Given the description of an element on the screen output the (x, y) to click on. 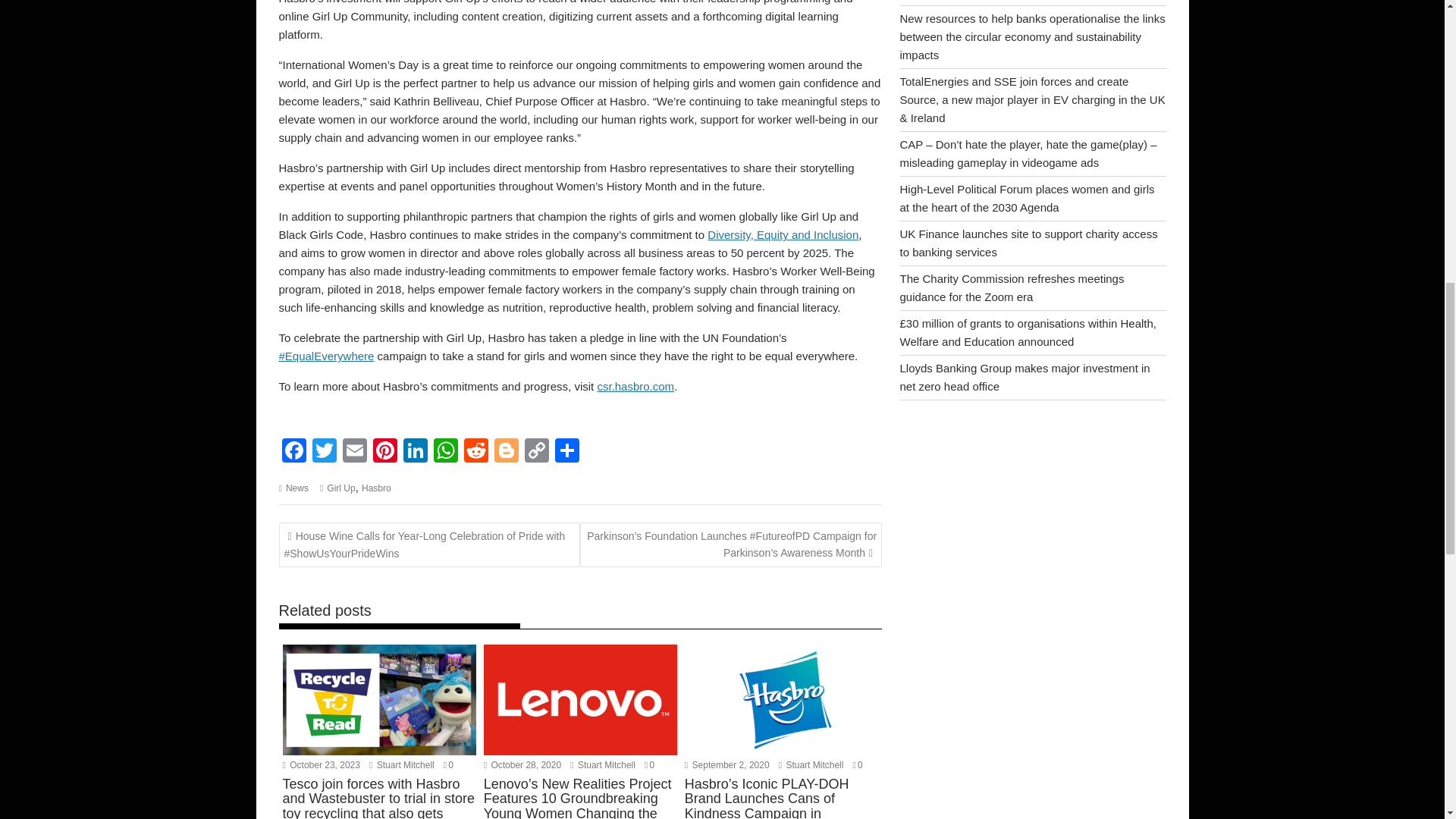
Pinterest (384, 452)
Twitter (323, 452)
Email (354, 452)
Facebook (293, 452)
